Given the description of an element on the screen output the (x, y) to click on. 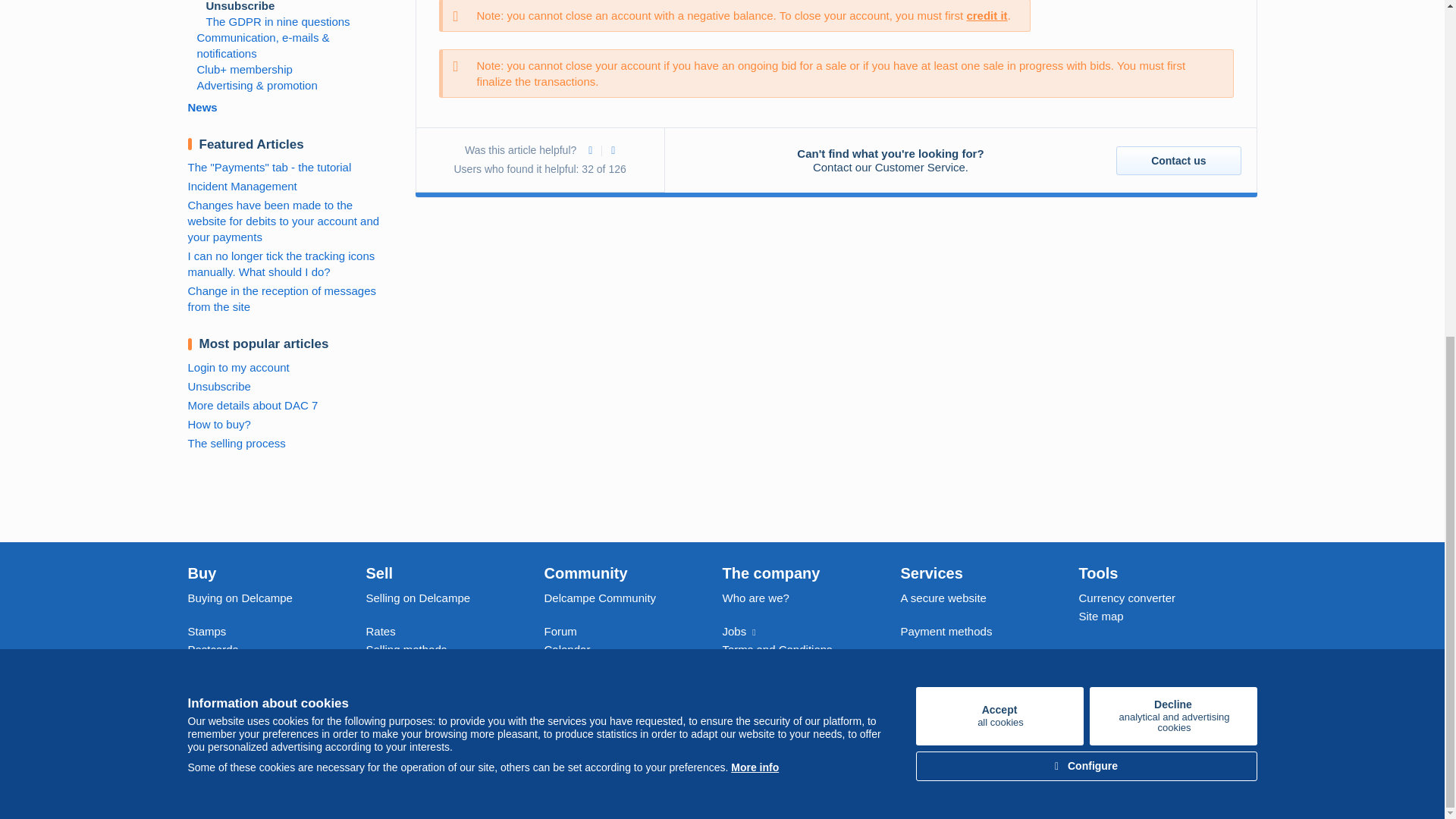
Facebook (1172, 149)
More info (1112, 732)
Pinterest (999, 149)
Linkedin (754, 200)
Twitter (1242, 732)
Instagram (1138, 732)
Configure (1189, 732)
Youtube (1216, 732)
